Given the description of an element on the screen output the (x, y) to click on. 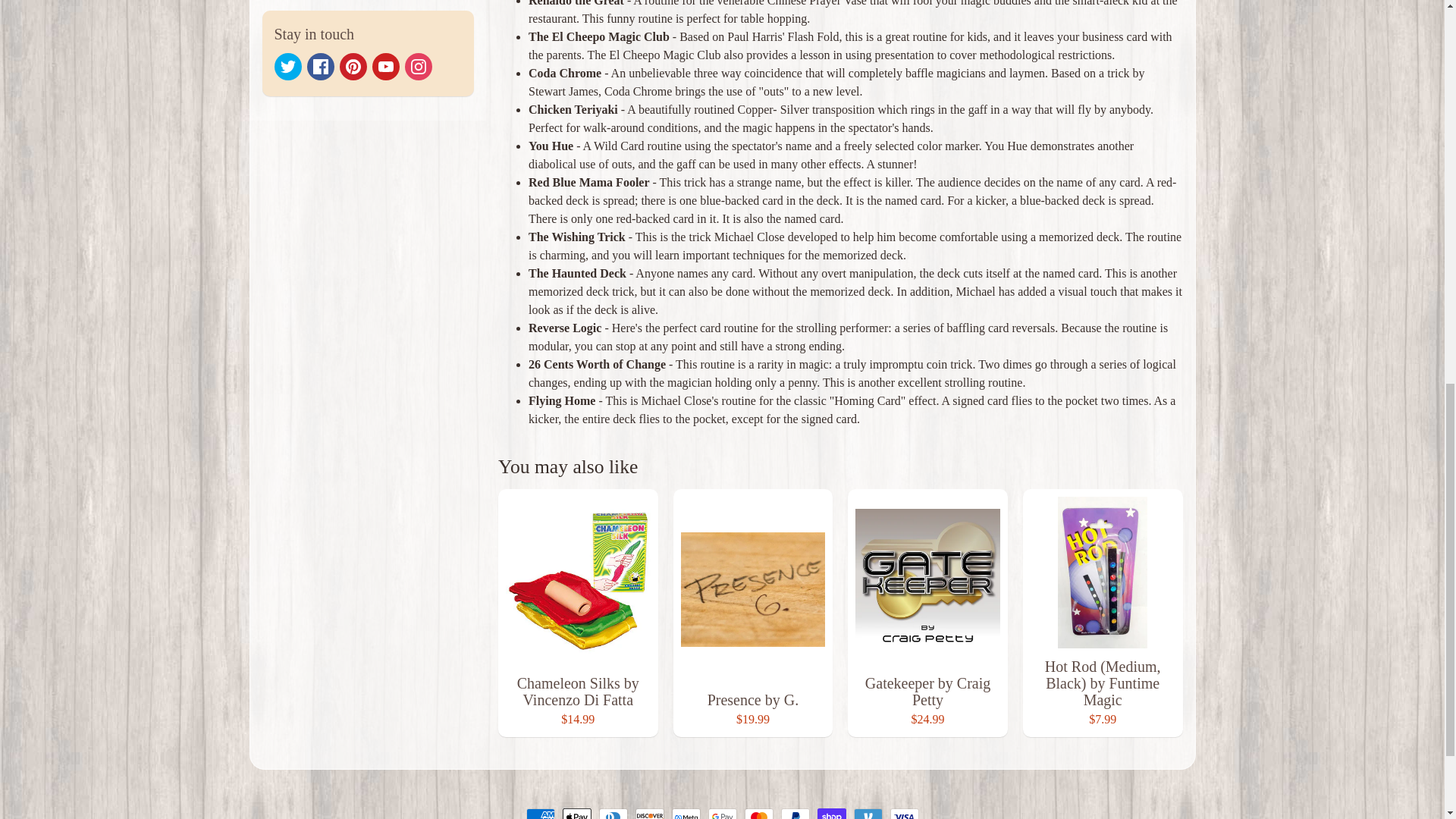
Instagram (418, 66)
Visa (903, 813)
Apple Pay (576, 813)
Google Pay (721, 813)
Youtube (384, 66)
Shop Pay (830, 813)
Venmo (867, 813)
Discover (648, 813)
PayPal (794, 813)
Twitter (288, 66)
Pinterest (352, 66)
Facebook (319, 66)
Meta Pay (685, 813)
American Express (539, 813)
Mastercard (758, 813)
